Given the description of an element on the screen output the (x, y) to click on. 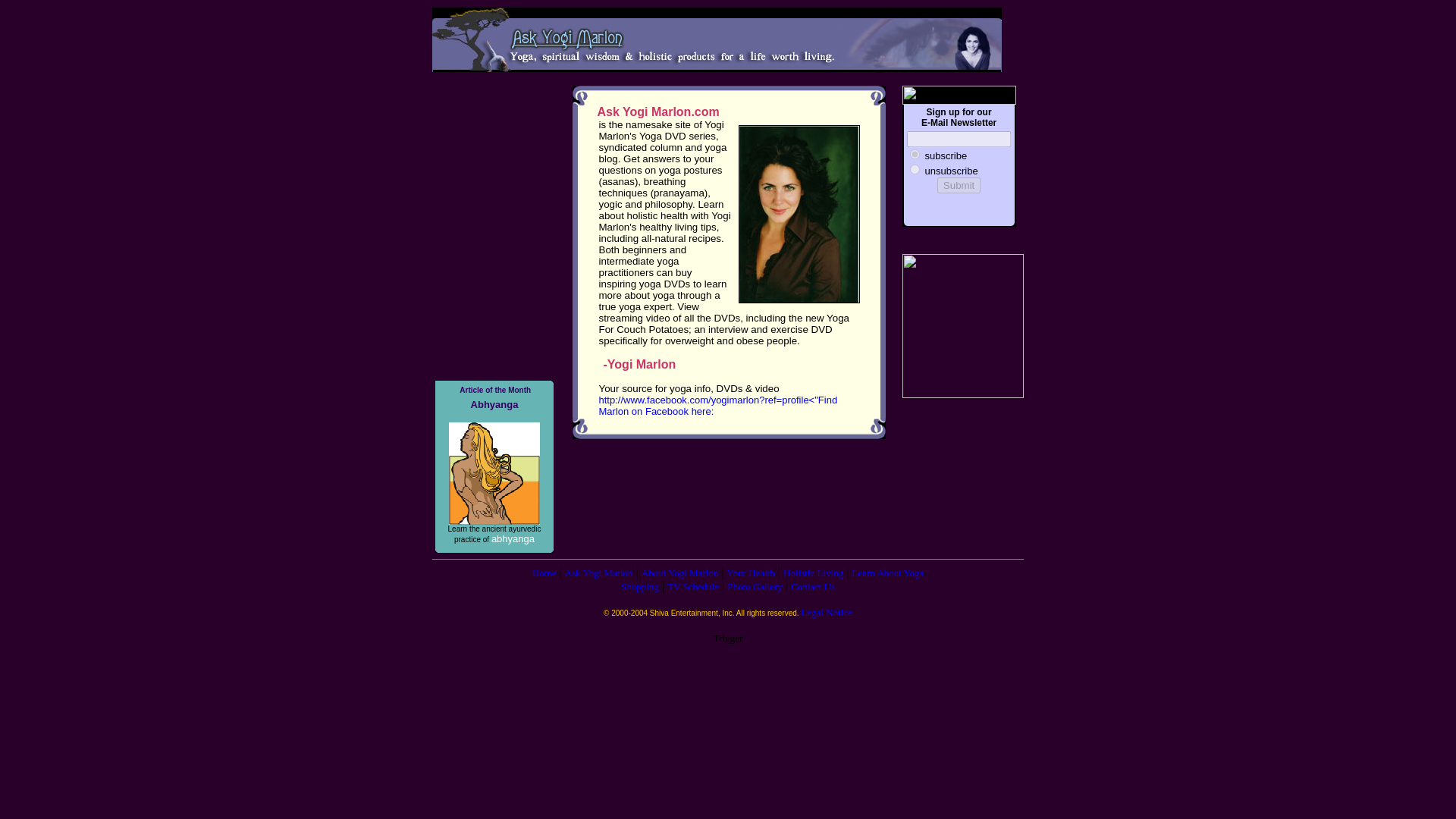
About Yogi Marlon (680, 572)
Learn About Yoga (887, 572)
Photo Gallery (754, 586)
abhyanga (513, 538)
Ask Yogi Marlon (598, 572)
TV Schedule (692, 586)
Your Health (750, 572)
Legal Notice (825, 612)
Holistic Living (813, 572)
Home (544, 572)
Contact Us (812, 586)
Shopping (640, 586)
Submit (958, 185)
